Given the description of an element on the screen output the (x, y) to click on. 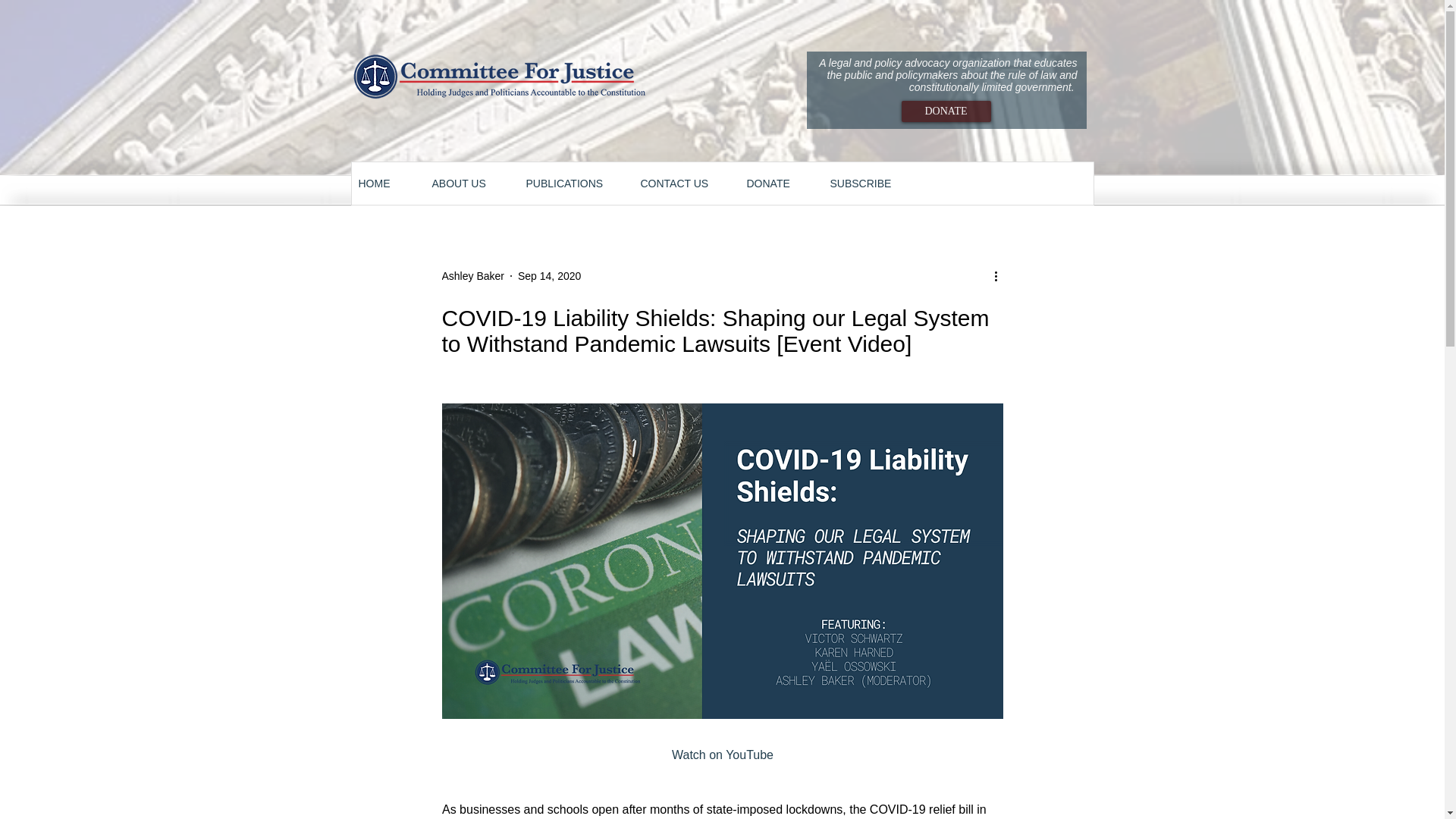
HOME (386, 183)
SUBSCRIBE (870, 183)
Sep 14, 2020 (549, 275)
DONATE (780, 183)
Ashley Baker (472, 276)
Watch on YouTube (722, 754)
DONATE (945, 111)
